Given the description of an element on the screen output the (x, y) to click on. 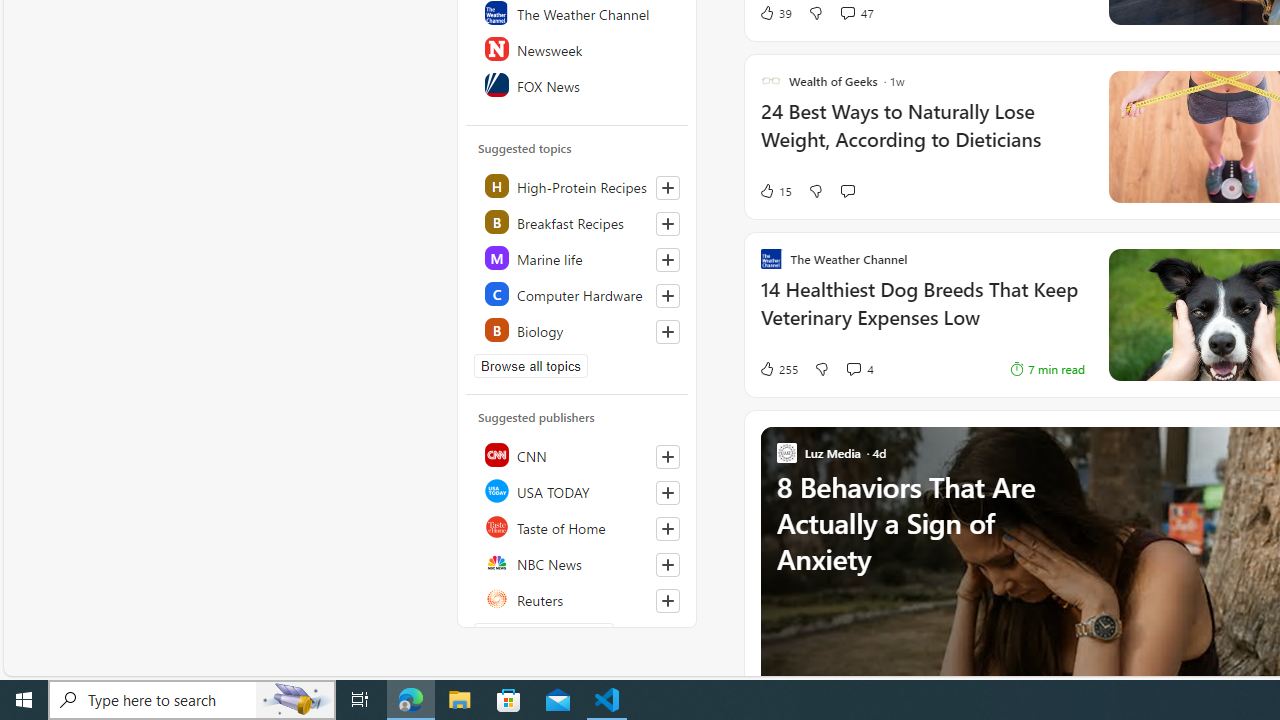
FOX News (578, 84)
255 Like (778, 368)
View comments 4 Comment (859, 368)
Follow this topic (667, 331)
Reuters (578, 598)
Start the conversation (847, 191)
Browse all topics (530, 366)
15 Like (775, 191)
View comments 47 Comment (847, 12)
View comments 4 Comment (852, 368)
Follow this source (667, 600)
Start the conversation (847, 190)
Taste of Home (578, 526)
